Given the description of an element on the screen output the (x, y) to click on. 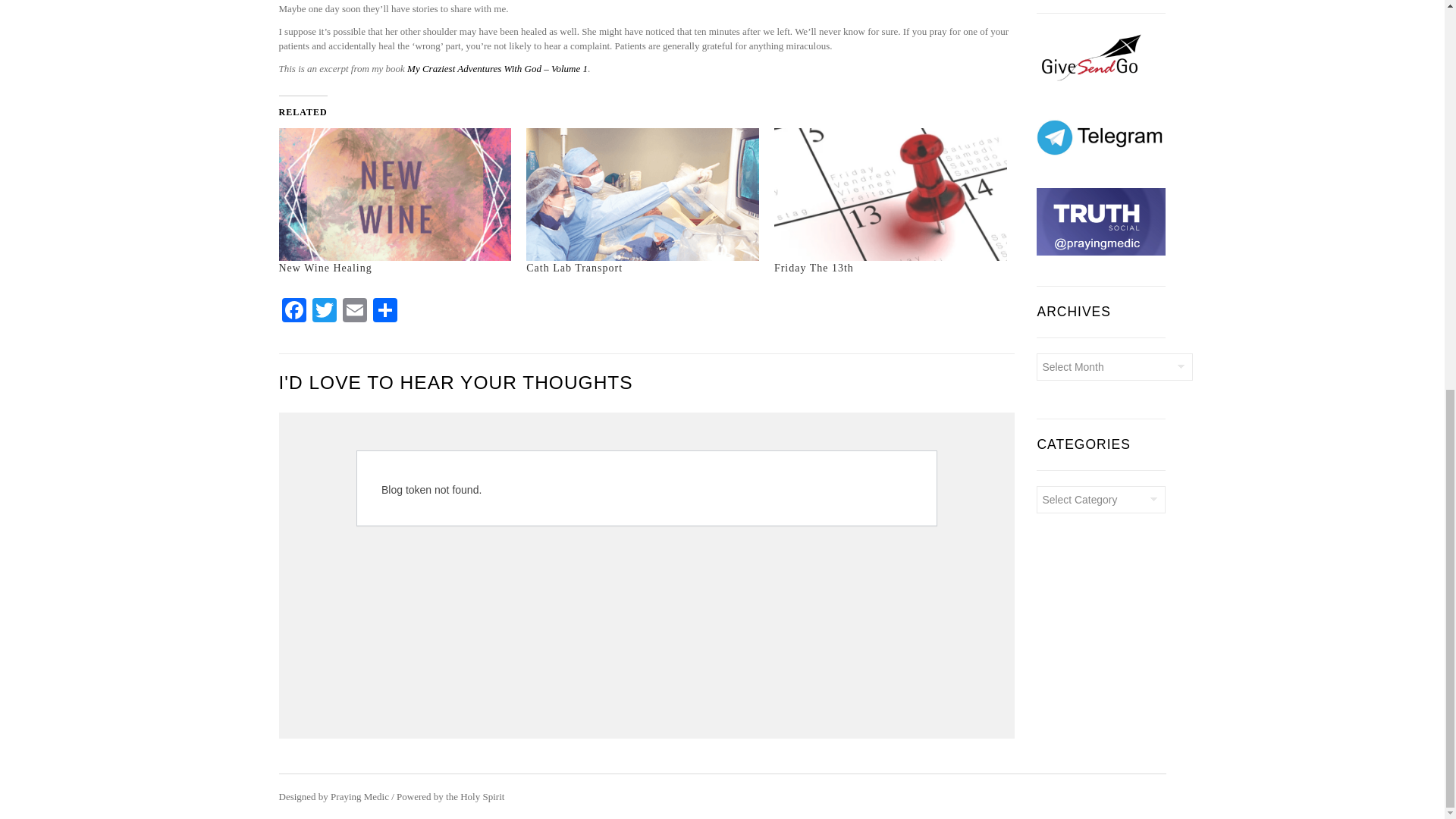
New Wine Healing (395, 194)
New Wine Healing (325, 267)
Email (354, 311)
Facebook (293, 311)
Twitter (323, 311)
Friday The 13th (813, 267)
Cath Lab Transport (641, 194)
Cath Lab Transport (574, 267)
Friday The 13th (890, 194)
